Given the description of an element on the screen output the (x, y) to click on. 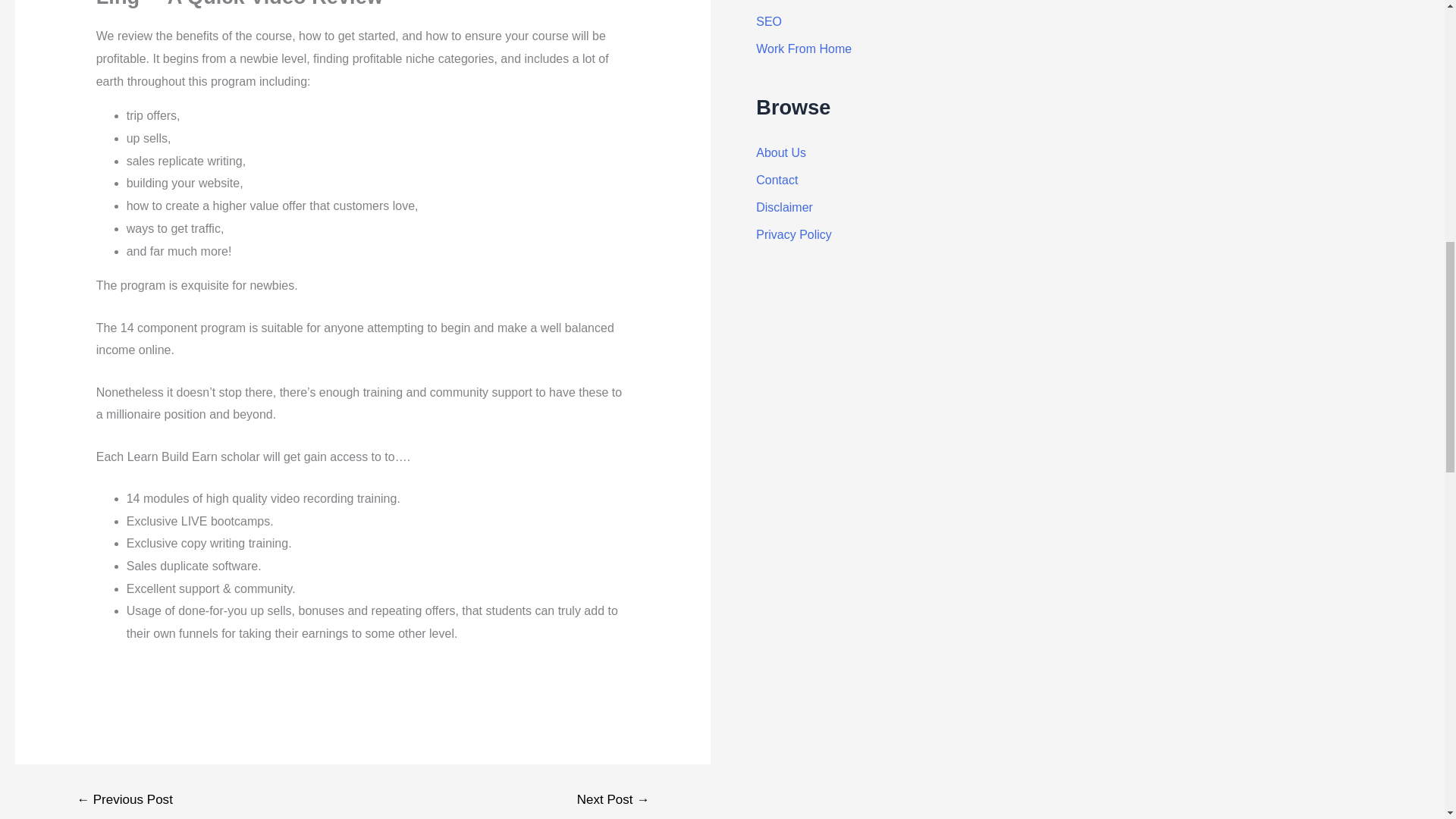
Reviews (778, 0)
Contact (776, 179)
About Us (780, 152)
SEO (768, 21)
Work From Home (803, 48)
